Given the description of an element on the screen output the (x, y) to click on. 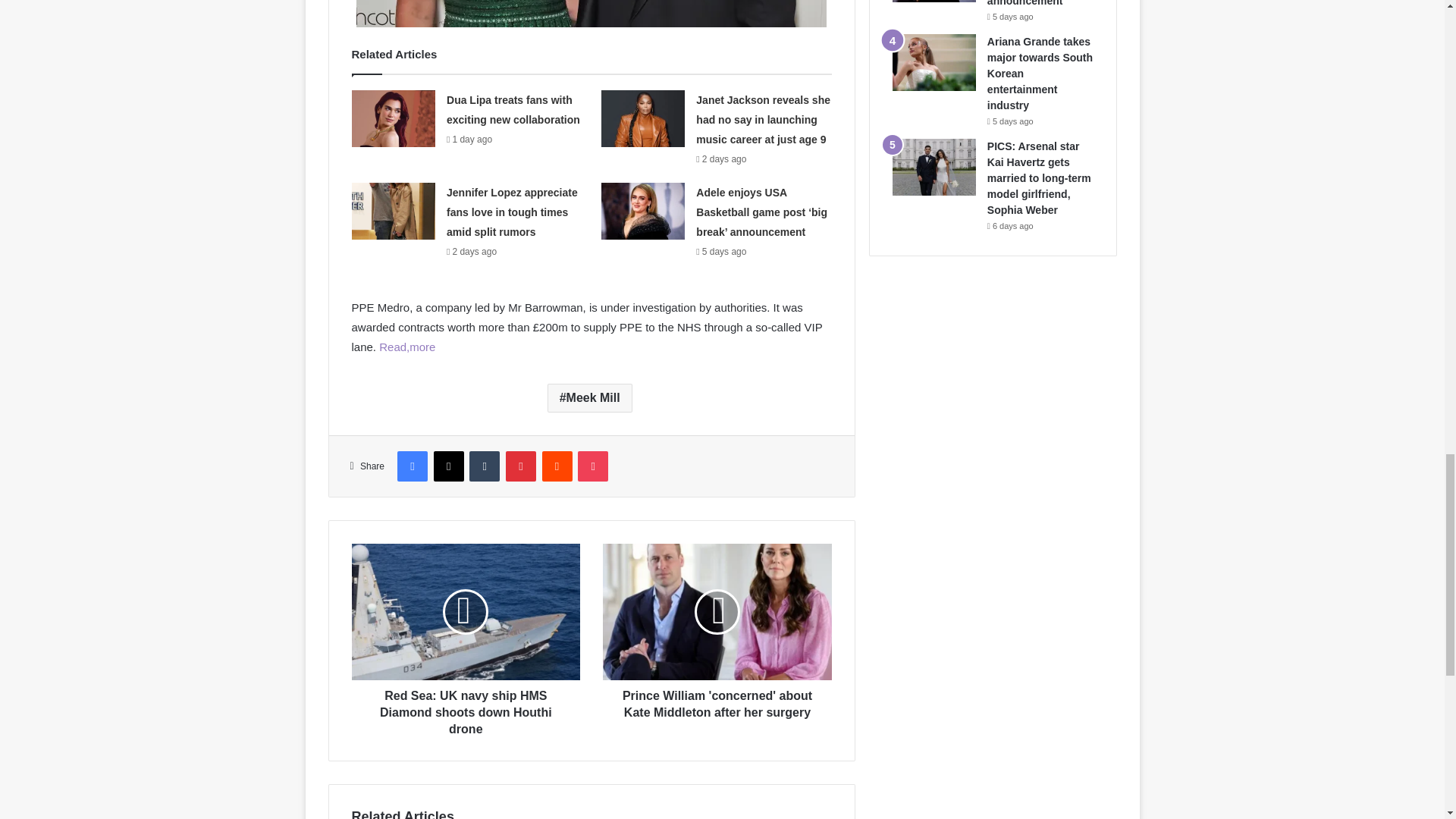
Dua Lipa treats fans with exciting new collaboration (512, 110)
